Given the description of an element on the screen output the (x, y) to click on. 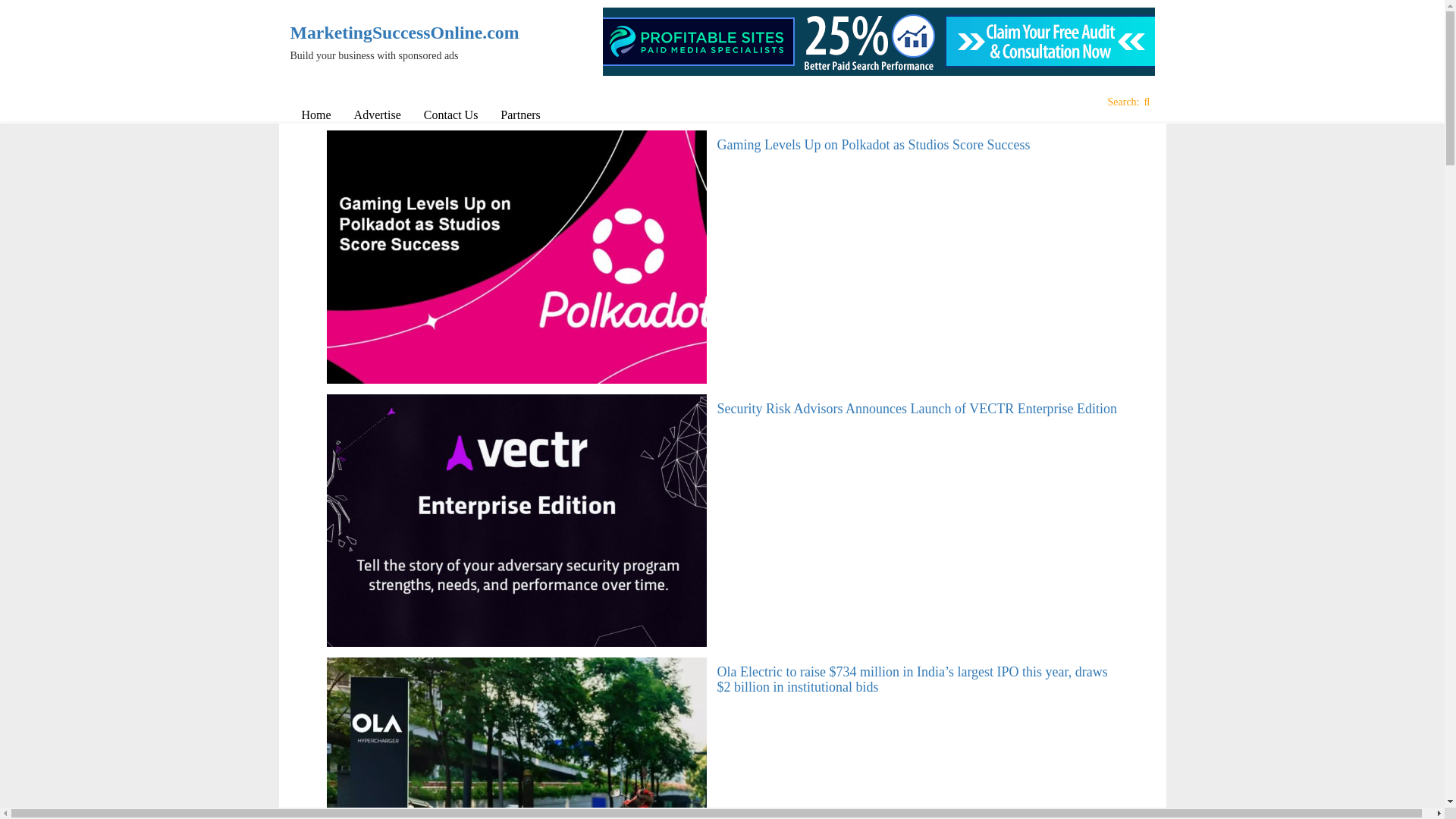
Contact Us (450, 115)
Partners (520, 115)
Advertise (377, 115)
Home (315, 115)
Gaming Levels Up on Polkadot as Studios Score Success (873, 144)
Gaming Levels Up on Polkadot as Studios Score Success (873, 144)
MarketingSuccessOnline.com (389, 32)
